Given the description of an element on the screen output the (x, y) to click on. 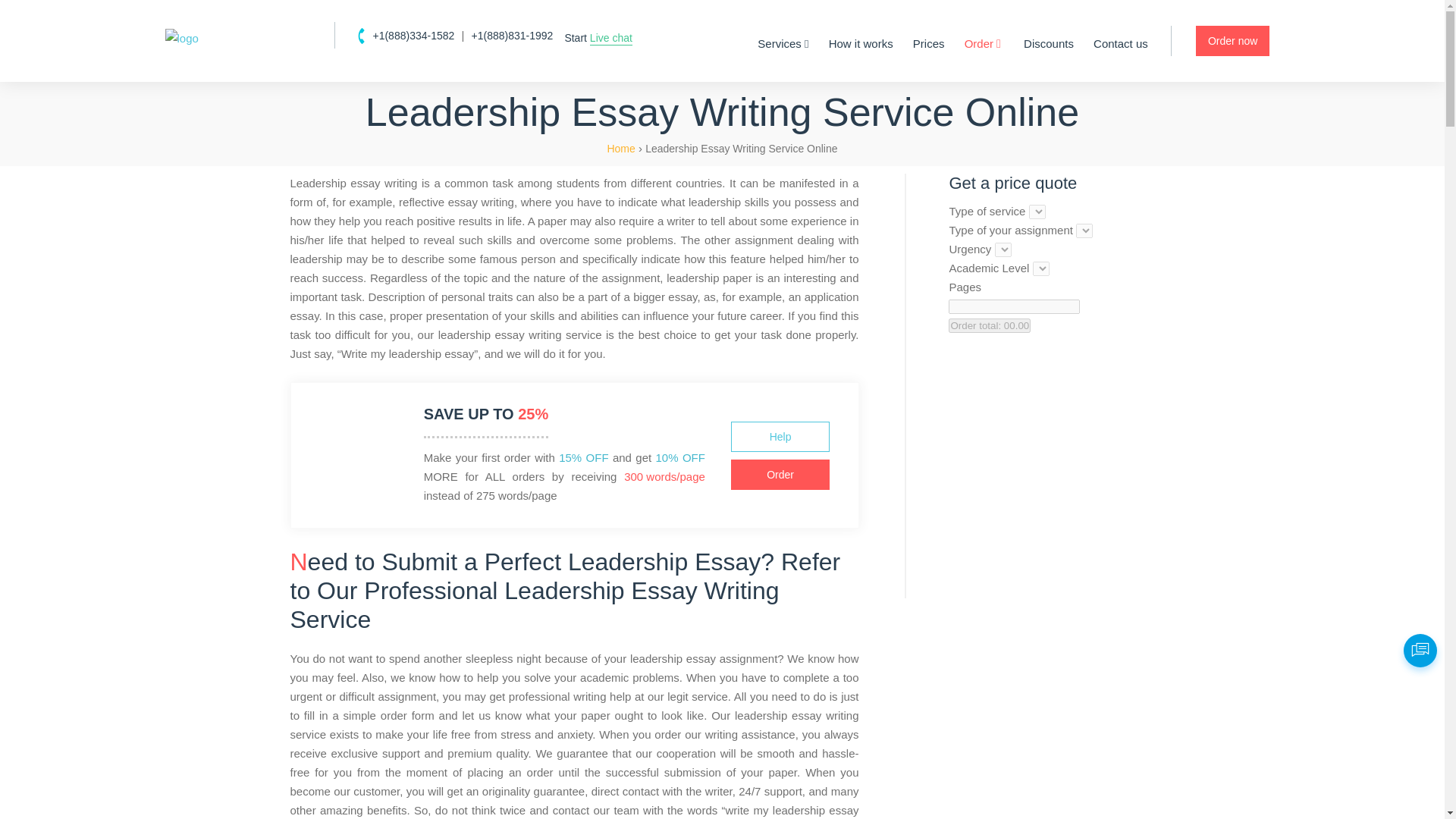
Annotated Bibliography (614, 232)
Go to MID-TERMS. (620, 148)
Synopsis (911, 232)
Contact us (1120, 43)
Business Plan (924, 232)
Questions Answers (604, 232)
Research Proposal (936, 232)
Order now (1232, 40)
Term Paper (917, 232)
Article Critique (593, 232)
